Given the description of an element on the screen output the (x, y) to click on. 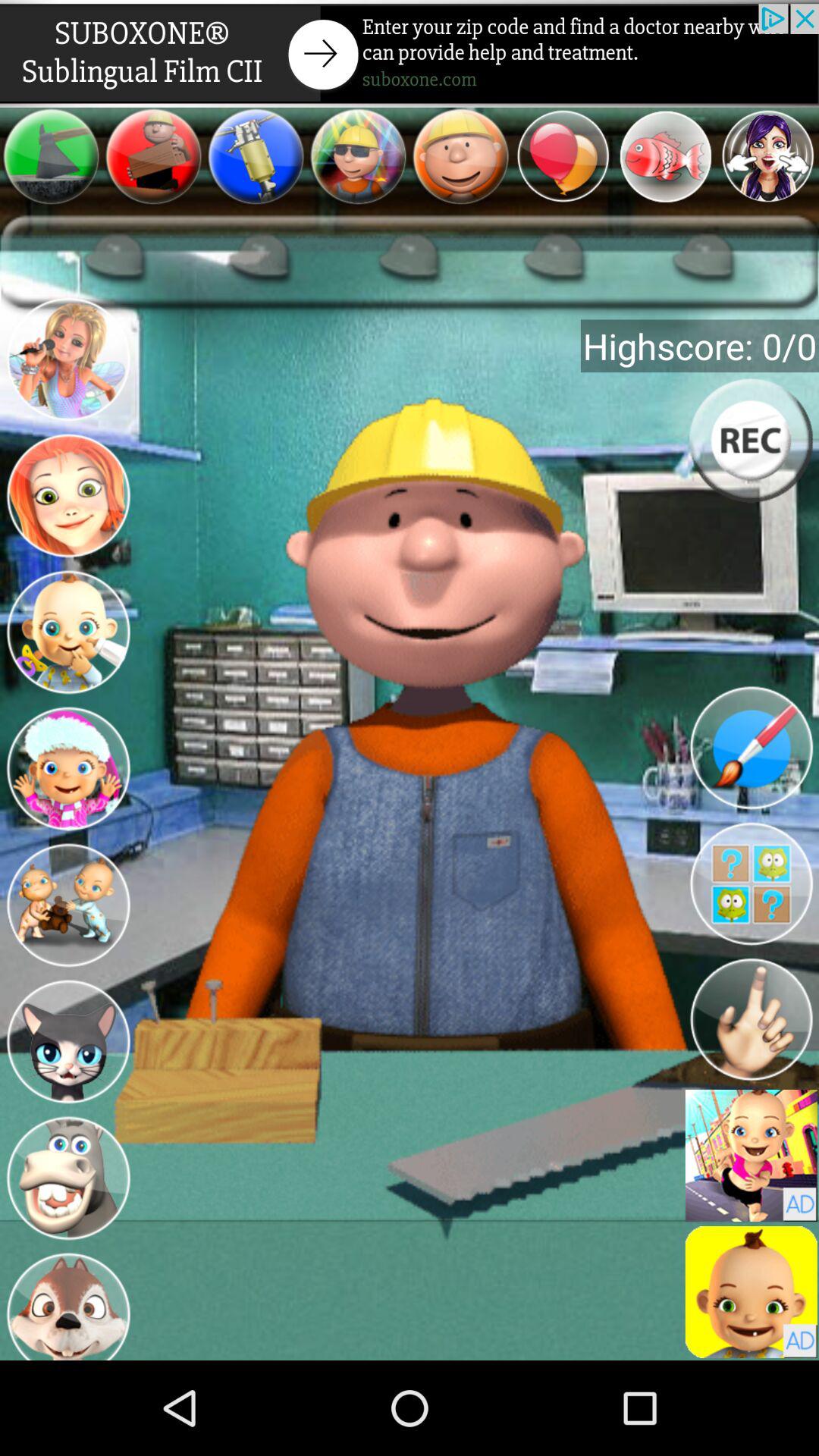
select the item (665, 156)
